Given the description of an element on the screen output the (x, y) to click on. 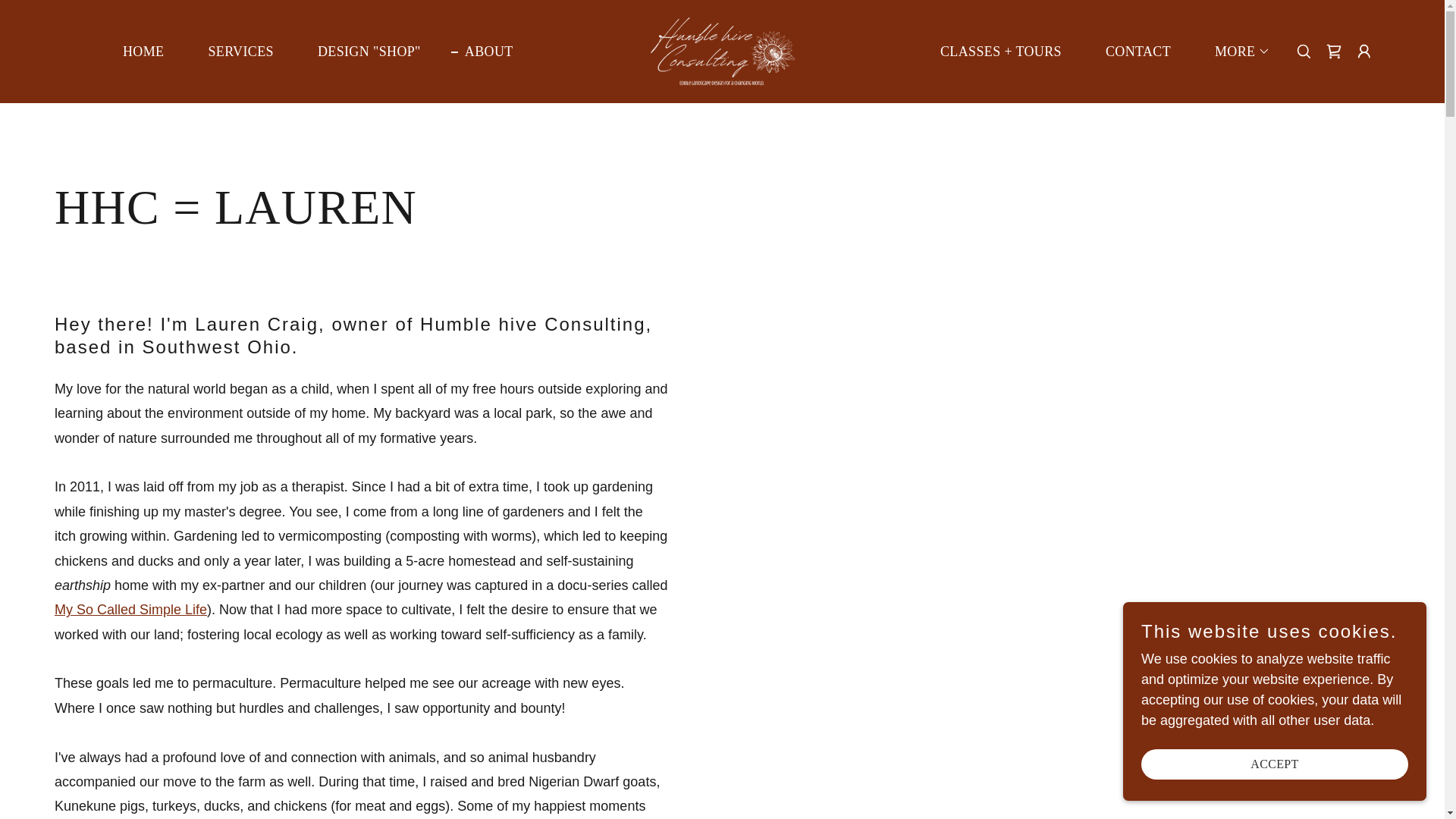
HOME (136, 51)
ABOUT (482, 51)
MORE (1235, 51)
DESIGN "SHOP" (362, 51)
SERVICES (233, 51)
CONTACT (1130, 51)
Humble hive Consulting (721, 50)
